Given the description of an element on the screen output the (x, y) to click on. 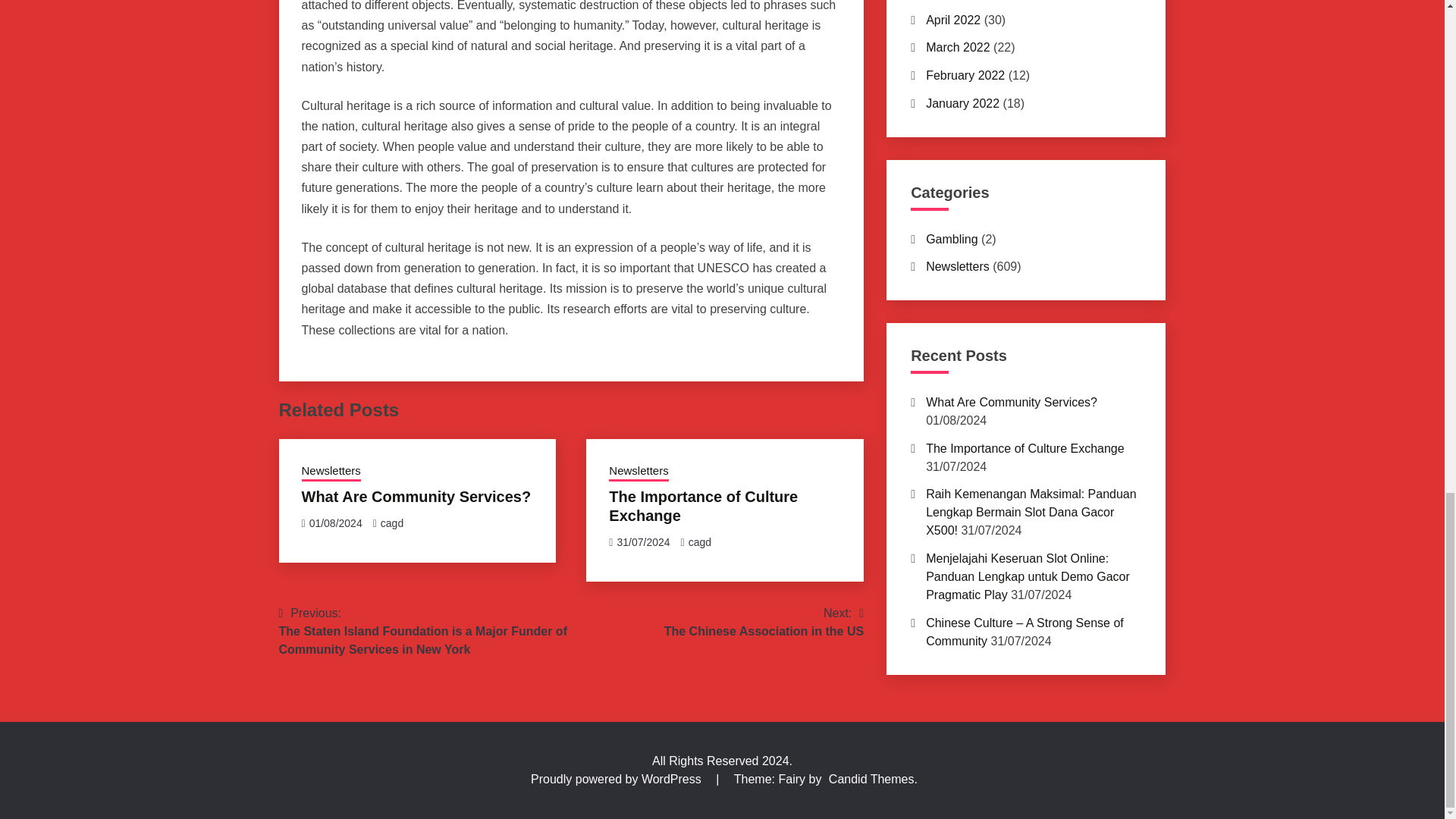
The Importance of Culture Exchange (702, 506)
cagd (391, 522)
cagd (699, 541)
Newsletters (763, 622)
What Are Community Services? (331, 472)
Newsletters (416, 496)
